Given the description of an element on the screen output the (x, y) to click on. 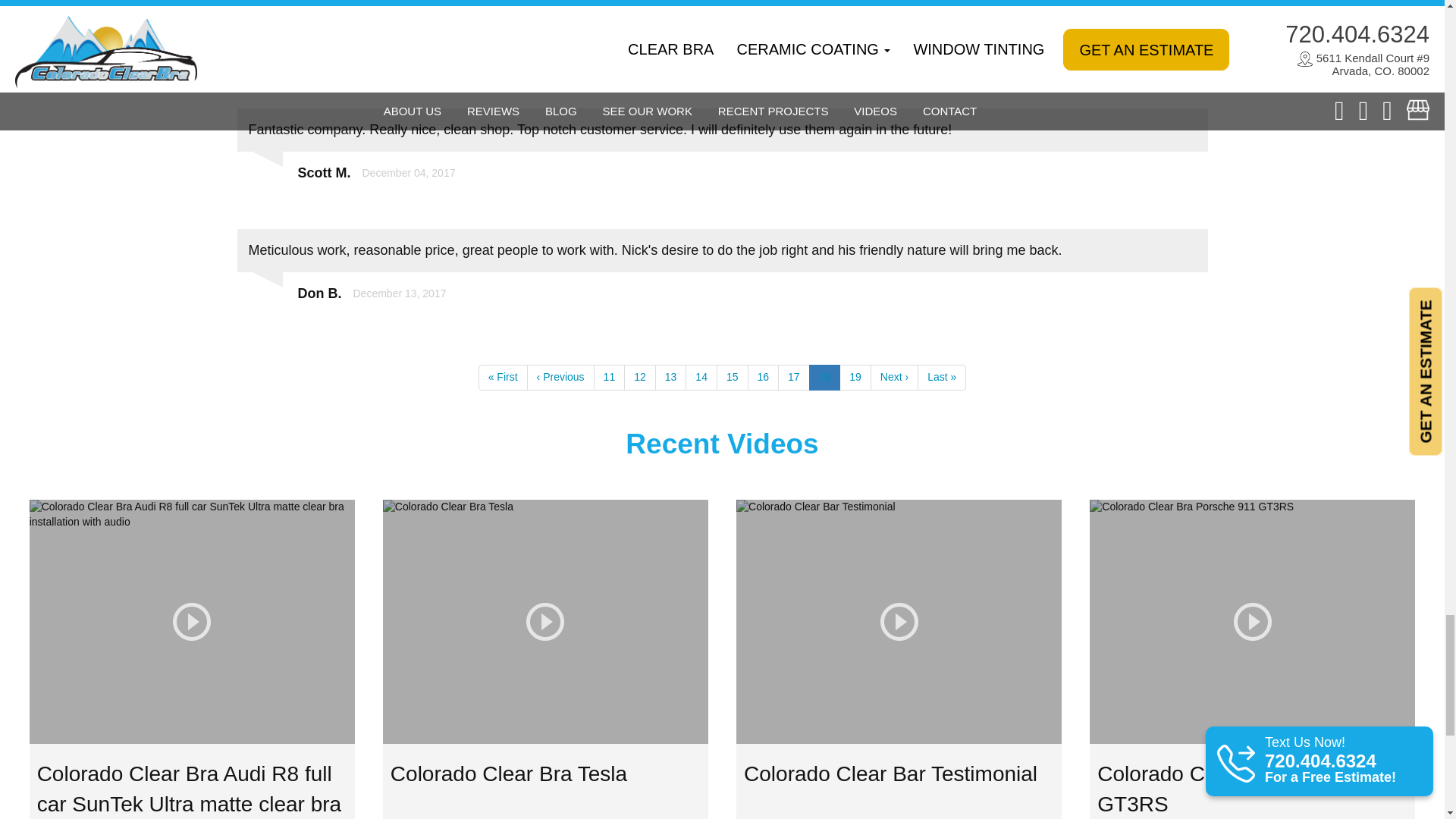
Go to next page (894, 377)
Go to page 15 (732, 377)
Go to first page (503, 377)
Go to last page (941, 377)
Go to page 19 (855, 377)
Go to page 12 (640, 377)
Current page (825, 377)
Go to previous page (560, 377)
Go to page 13 (671, 377)
Go to page 16 (763, 377)
Go to page 17 (793, 377)
Go to page 14 (701, 377)
Go to page 11 (610, 377)
